Given the description of an element on the screen output the (x, y) to click on. 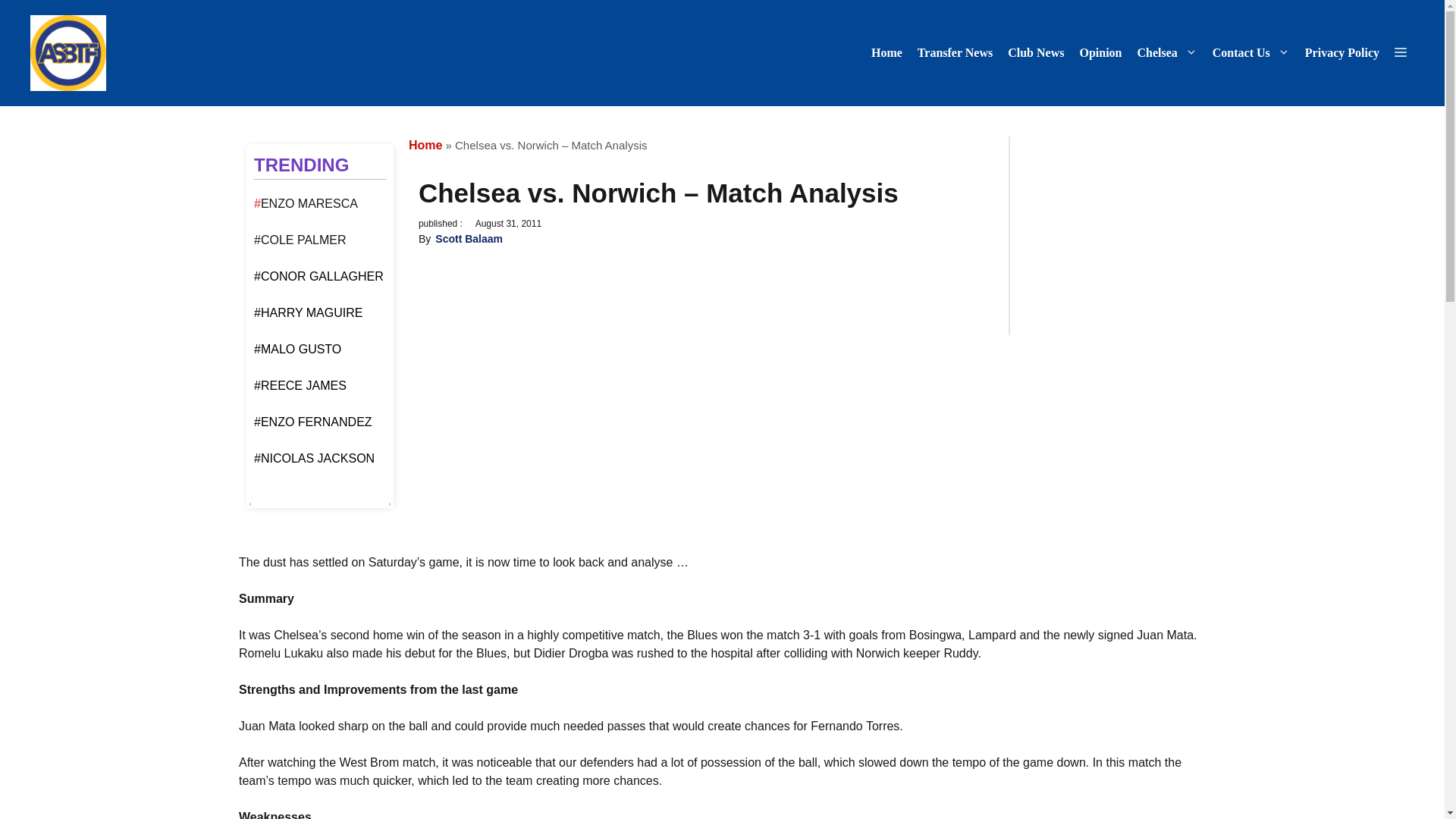
Chelsea (1166, 52)
Contact Us (1251, 52)
Privacy Policy (1342, 52)
ENZO MARESCA (309, 203)
Scott Balaam (468, 238)
Home (425, 144)
Club News (1035, 52)
Transfer News (955, 52)
Opinion (1100, 52)
